Given the description of an element on the screen output the (x, y) to click on. 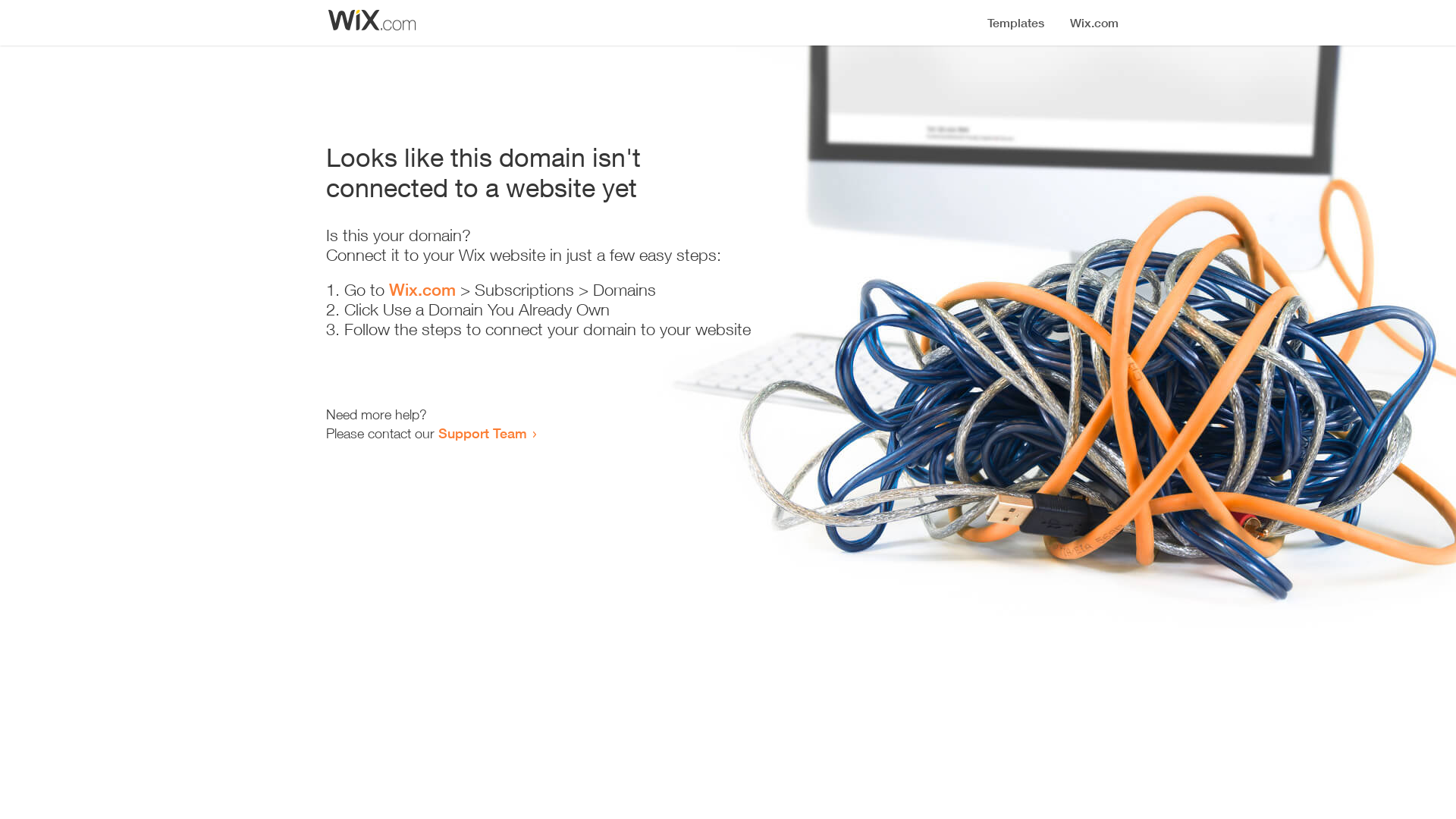
Support Team Element type: text (482, 432)
Wix.com Element type: text (422, 289)
